Given the description of an element on the screen output the (x, y) to click on. 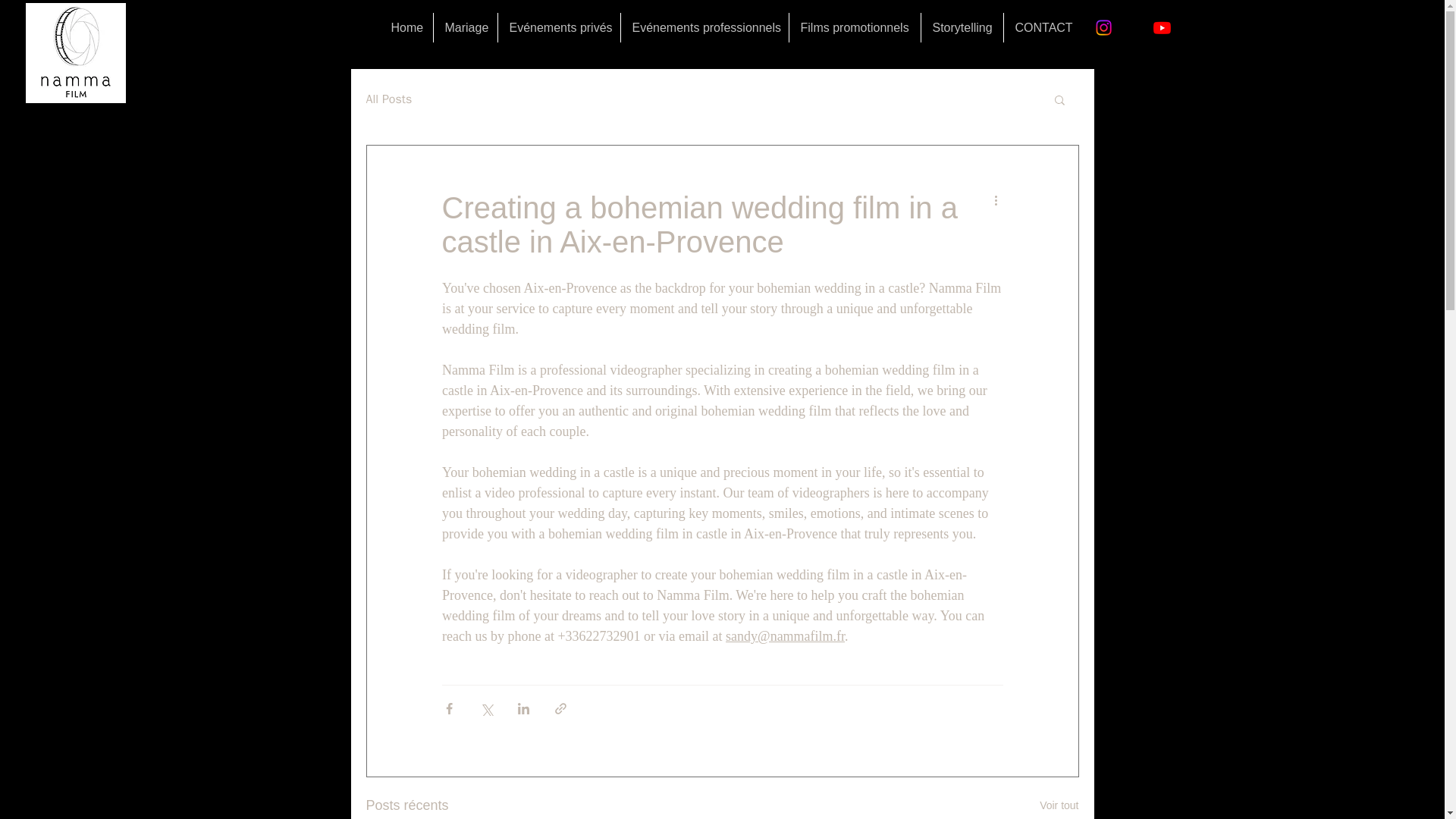
Voir tout (1058, 805)
All Posts (388, 98)
Home (405, 27)
Mariage (465, 27)
CONTACT (1039, 27)
Films promotionnels (854, 27)
Storytelling (961, 27)
